Given the description of an element on the screen output the (x, y) to click on. 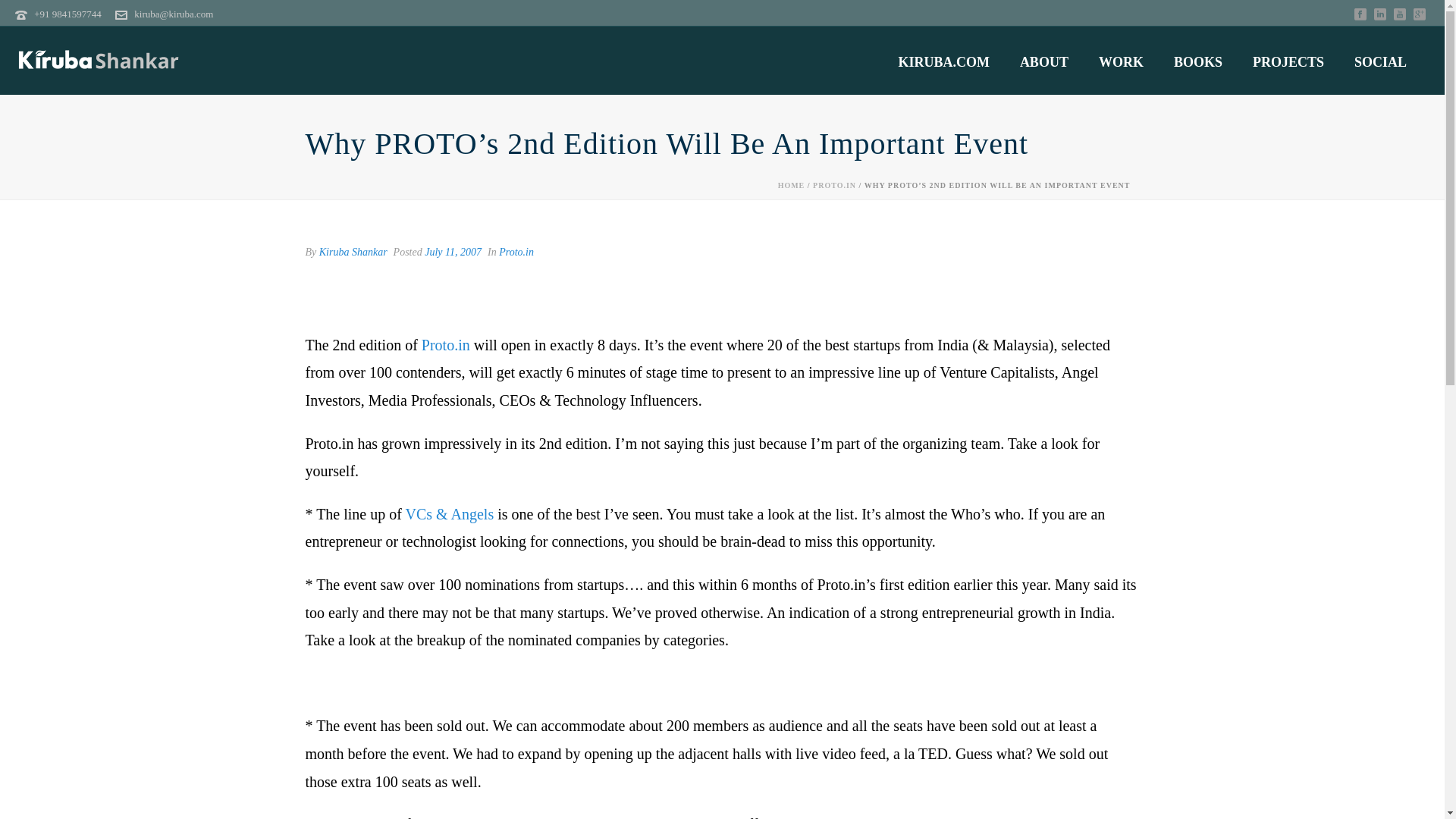
PROJECTS (1288, 62)
ABOUT (1043, 62)
BOOKS (1197, 62)
BOOKS (1197, 62)
The Personal Website of Kiruba Shankar (98, 60)
ABOUT (1043, 62)
PROJECTS (1288, 62)
WORK (1120, 62)
KIRUBA.COM (943, 62)
SOCIAL (1380, 62)
